Given the description of an element on the screen output the (x, y) to click on. 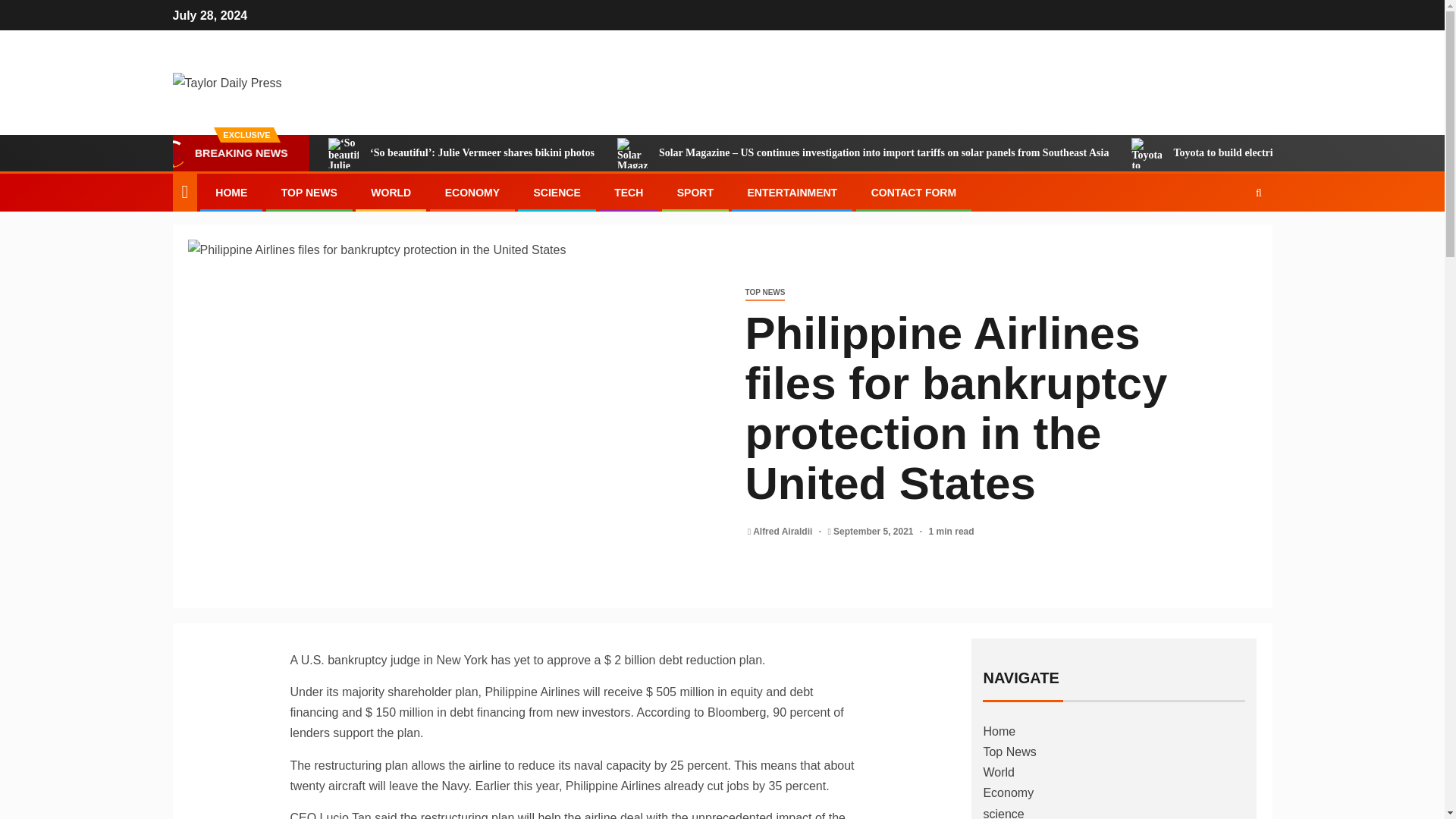
ENTERTAINMENT (791, 192)
CONTACT FORM (913, 192)
TOP NEWS (764, 293)
Alfred Airaldii (783, 531)
Search (1258, 192)
HOME (231, 192)
Search (1229, 238)
SPORT (695, 192)
SCIENCE (555, 192)
ECONOMY (472, 192)
TECH (628, 192)
WORLD (390, 192)
TOP NEWS (309, 192)
